Given the description of an element on the screen output the (x, y) to click on. 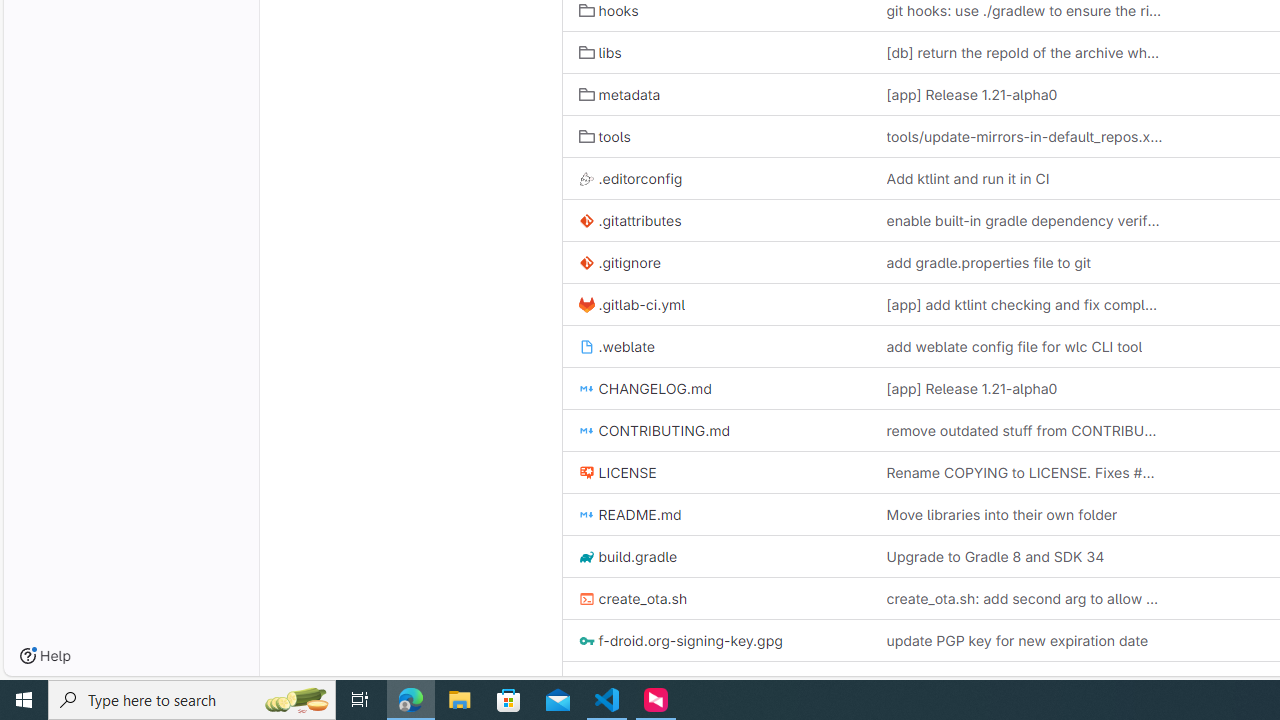
add weblate config file for wlc CLI tool (1014, 346)
.gitlab-ci.yml (632, 304)
update PGP key for new expiration date (1017, 641)
tools (604, 136)
.gitignore (619, 262)
Add ktlint and run it in CI (1024, 178)
[app] Release 1.21-alpha0 (971, 389)
metadata (619, 94)
gradle.properties (715, 682)
CHANGELOG.md (644, 389)
build.gradle (715, 556)
Rename COPYING to LICENSE. Fixes #384 (1024, 472)
libs (600, 52)
gradle.properties (645, 682)
